Given the description of an element on the screen output the (x, y) to click on. 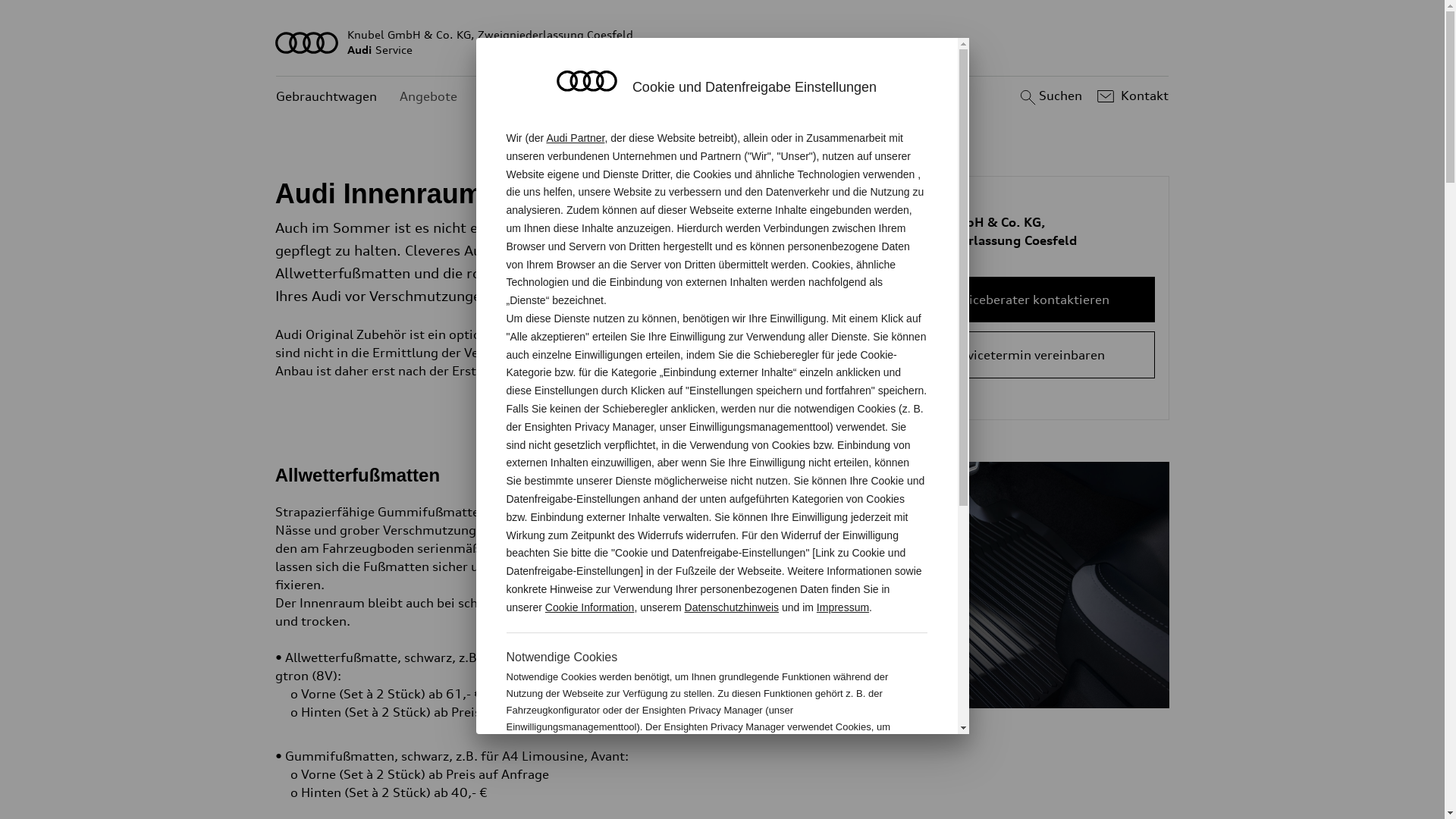
Datenschutzhinweis Element type: text (731, 607)
Impressum Element type: text (842, 607)
Suchen Element type: text (1049, 96)
Preis auf Anfrage Element type: text (502, 711)
Preis auf Anfrage Element type: text (497, 774)
Audi Partner Element type: text (575, 137)
Servicetermin vereinbaren Element type: text (1025, 354)
Cookie Information Element type: text (847, 776)
Cookie Information Element type: text (589, 607)
Kontakt Element type: text (1130, 96)
Kundenservice Element type: text (523, 96)
Serviceberater kontaktieren Element type: text (1025, 299)
Gebrauchtwagen Element type: text (326, 96)
Angebote Element type: text (428, 96)
